Given the description of an element on the screen output the (x, y) to click on. 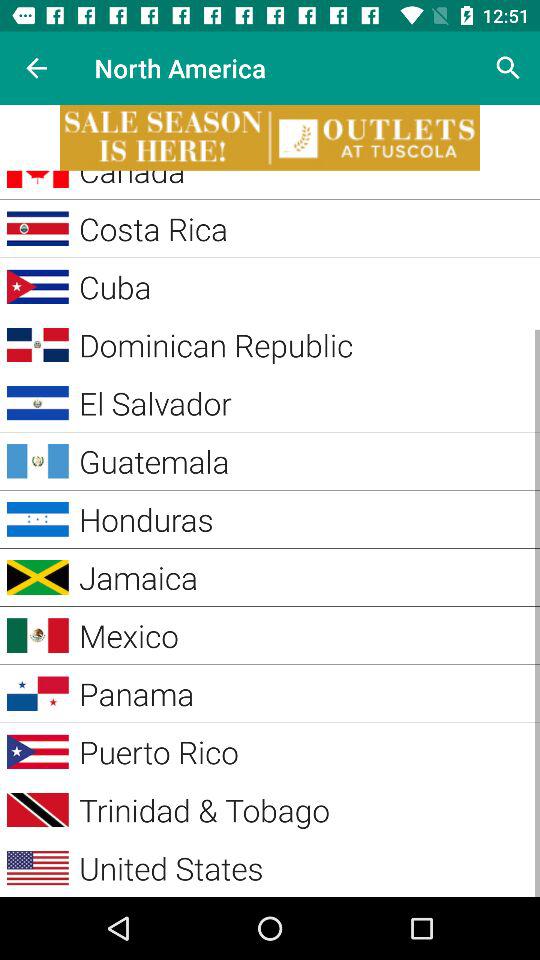
search button (508, 67)
